Given the description of an element on the screen output the (x, y) to click on. 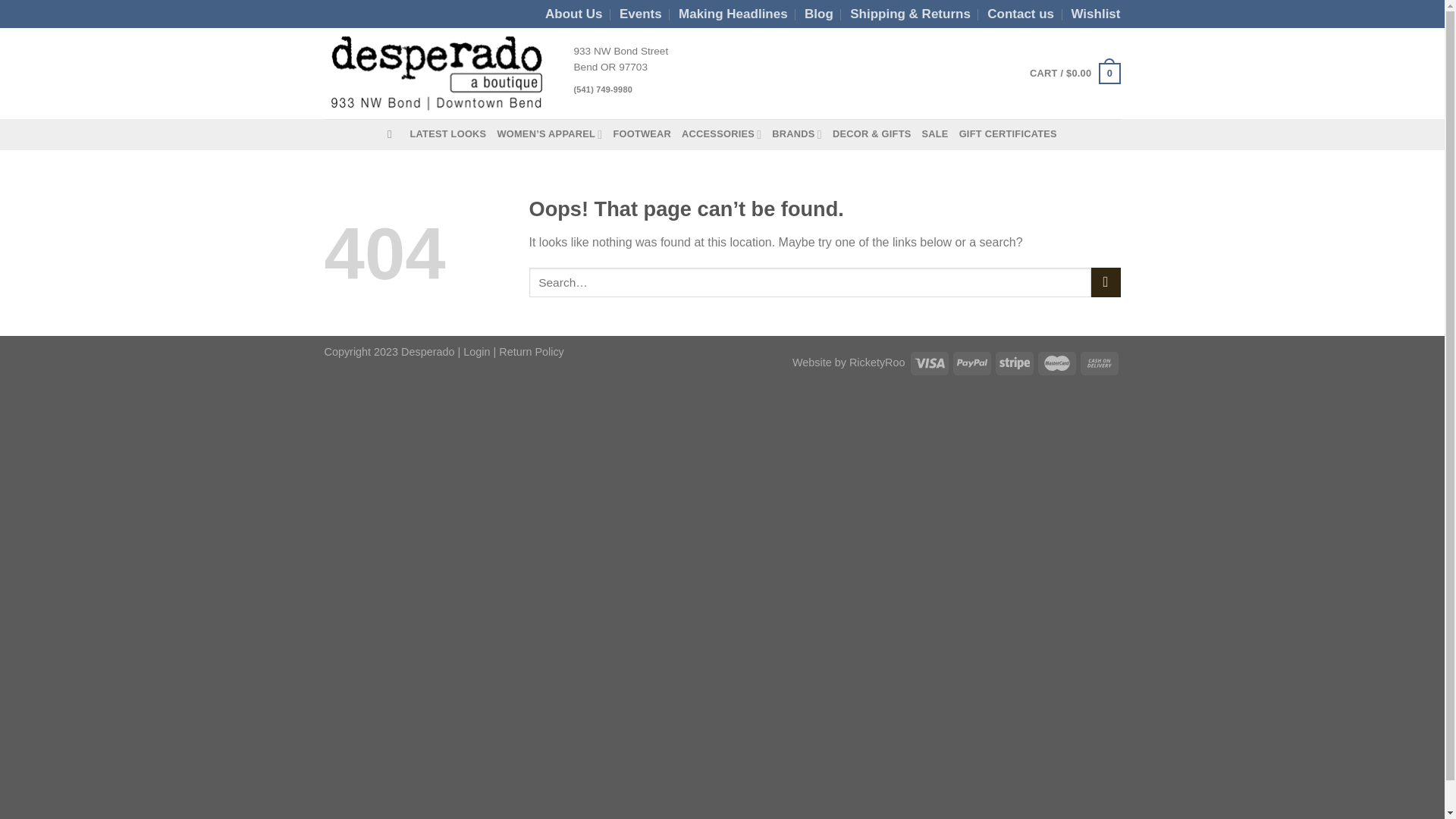
BRANDS (796, 133)
Wishlist (1094, 13)
Events (641, 13)
Blog (818, 13)
Making Headlines (732, 13)
ACCESSORIES (721, 133)
Desperado Boutique - Bend OR (437, 73)
About Us (573, 13)
LATEST LOOKS (447, 133)
Cart (1074, 73)
FOOTWEAR (641, 133)
Contact us (1020, 13)
